Given the description of an element on the screen output the (x, y) to click on. 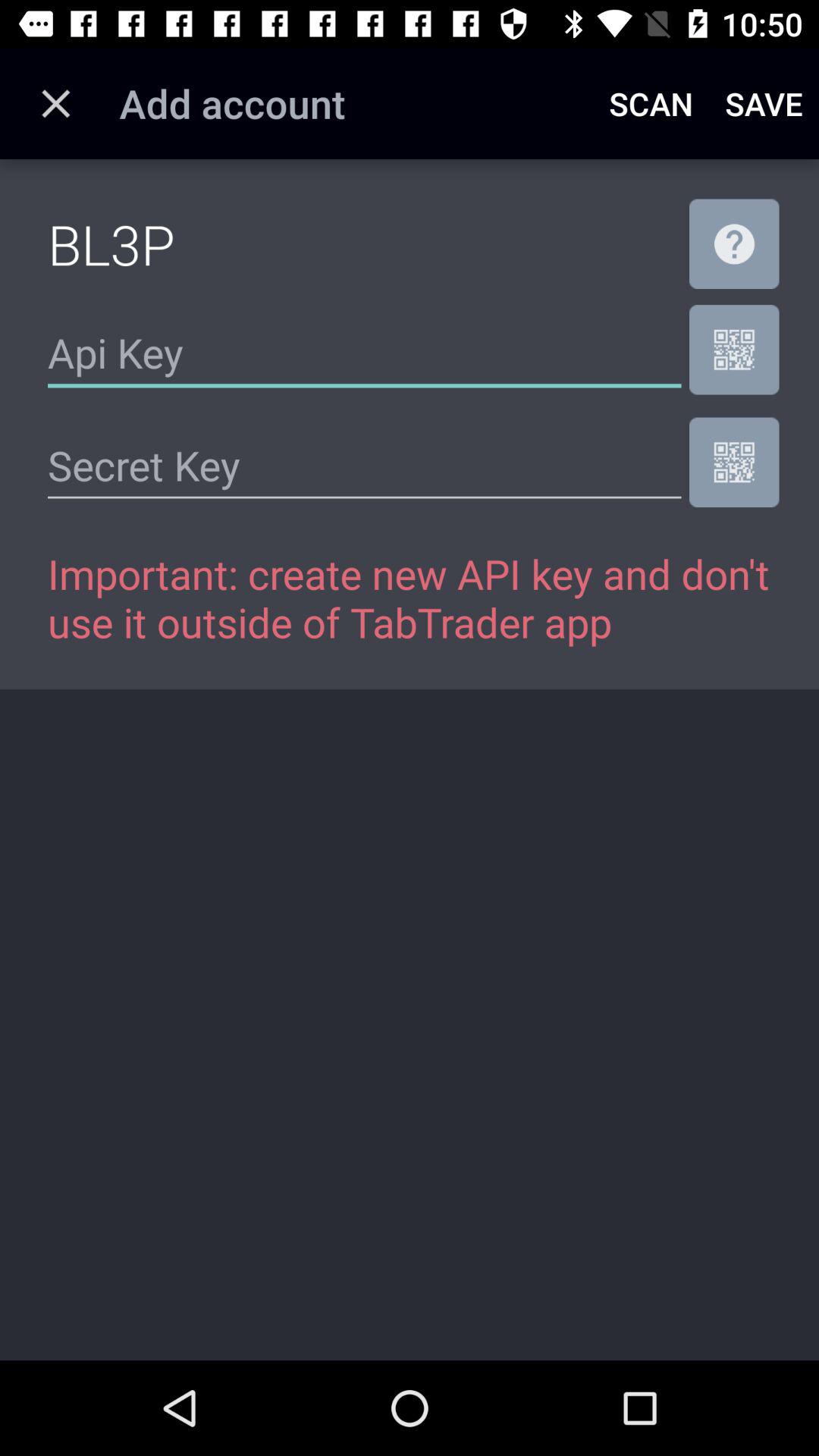
press the icon below the scan icon (734, 243)
